Given the description of an element on the screen output the (x, y) to click on. 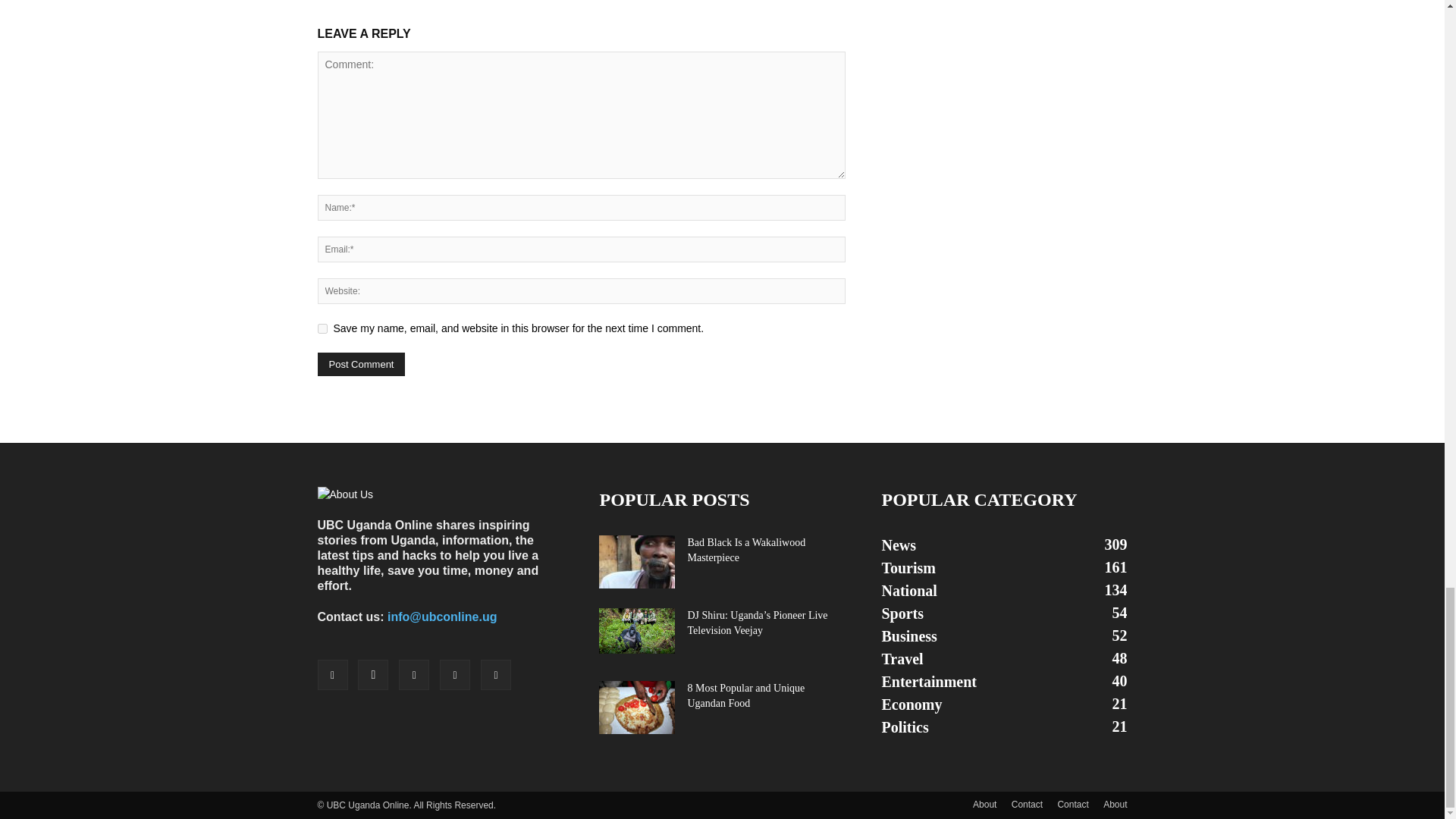
yes (321, 328)
Post Comment (360, 363)
